Given the description of an element on the screen output the (x, y) to click on. 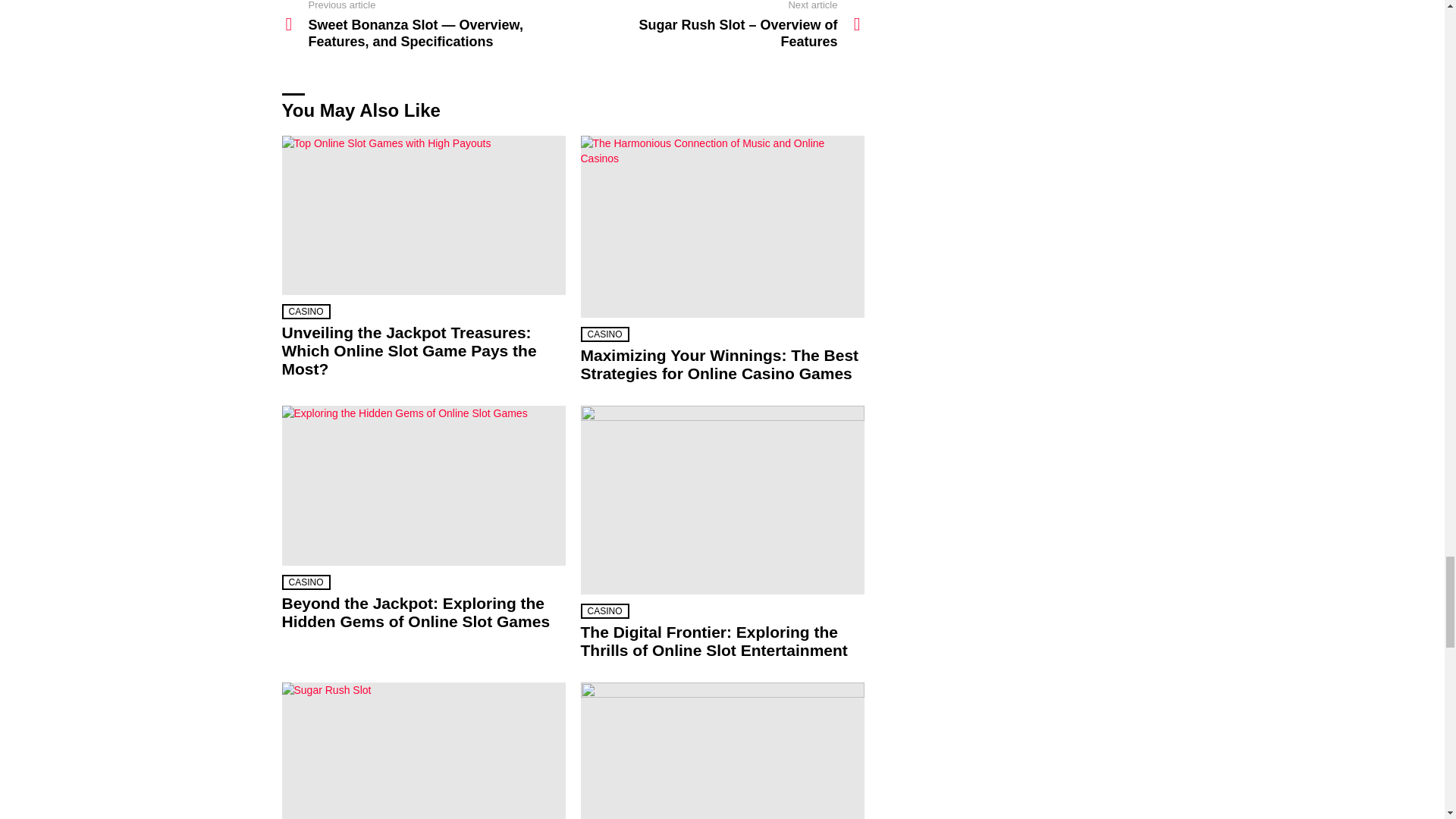
CASINO (306, 311)
